Given the description of an element on the screen output the (x, y) to click on. 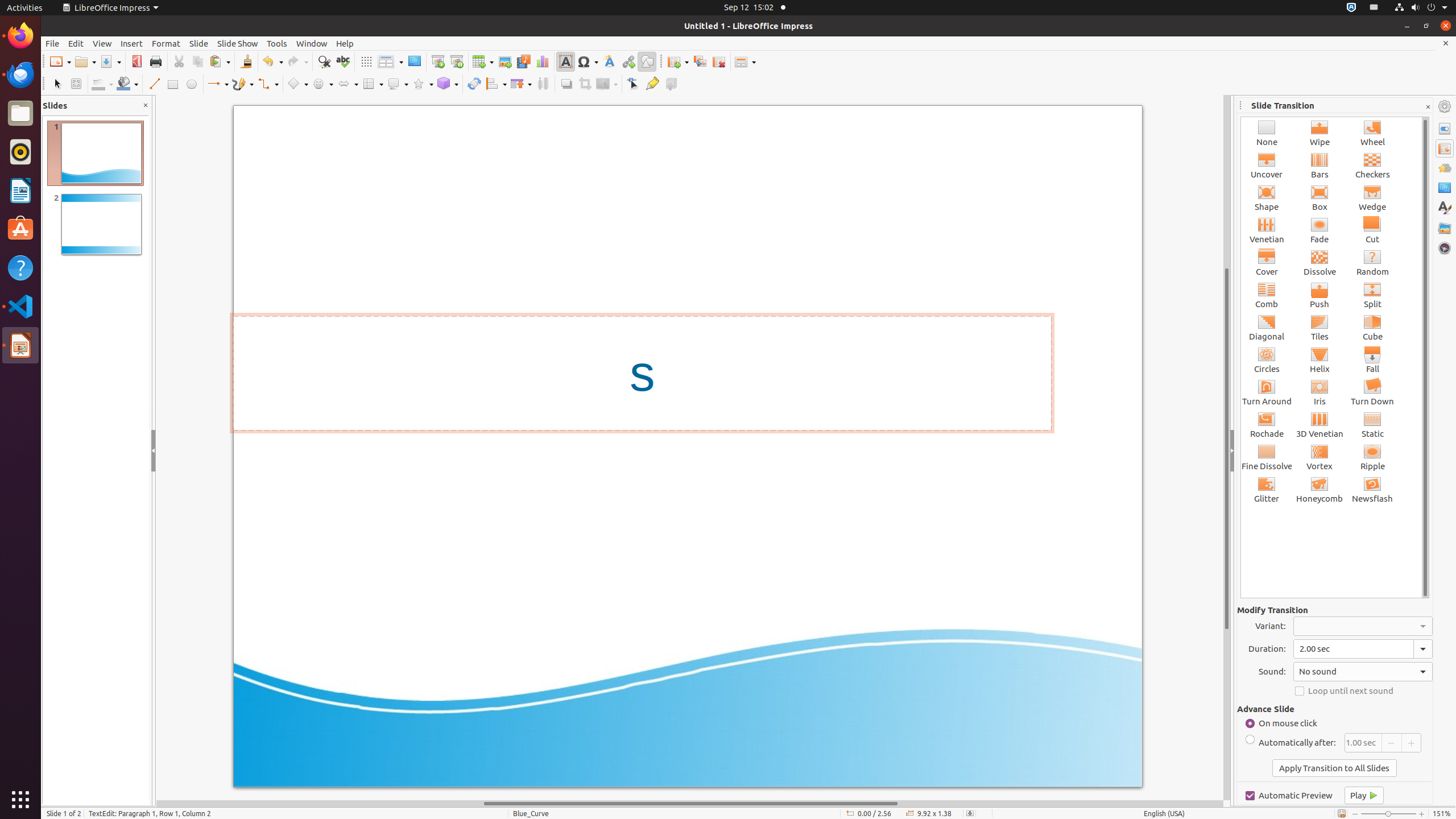
Fade Element type: list-item (1319, 229)
Checkers Element type: list-item (1372, 164)
Push Element type: list-item (1319, 294)
System Element type: menu (1420, 7)
Star Shapes Element type: push-button (422, 83)
